Given the description of an element on the screen output the (x, y) to click on. 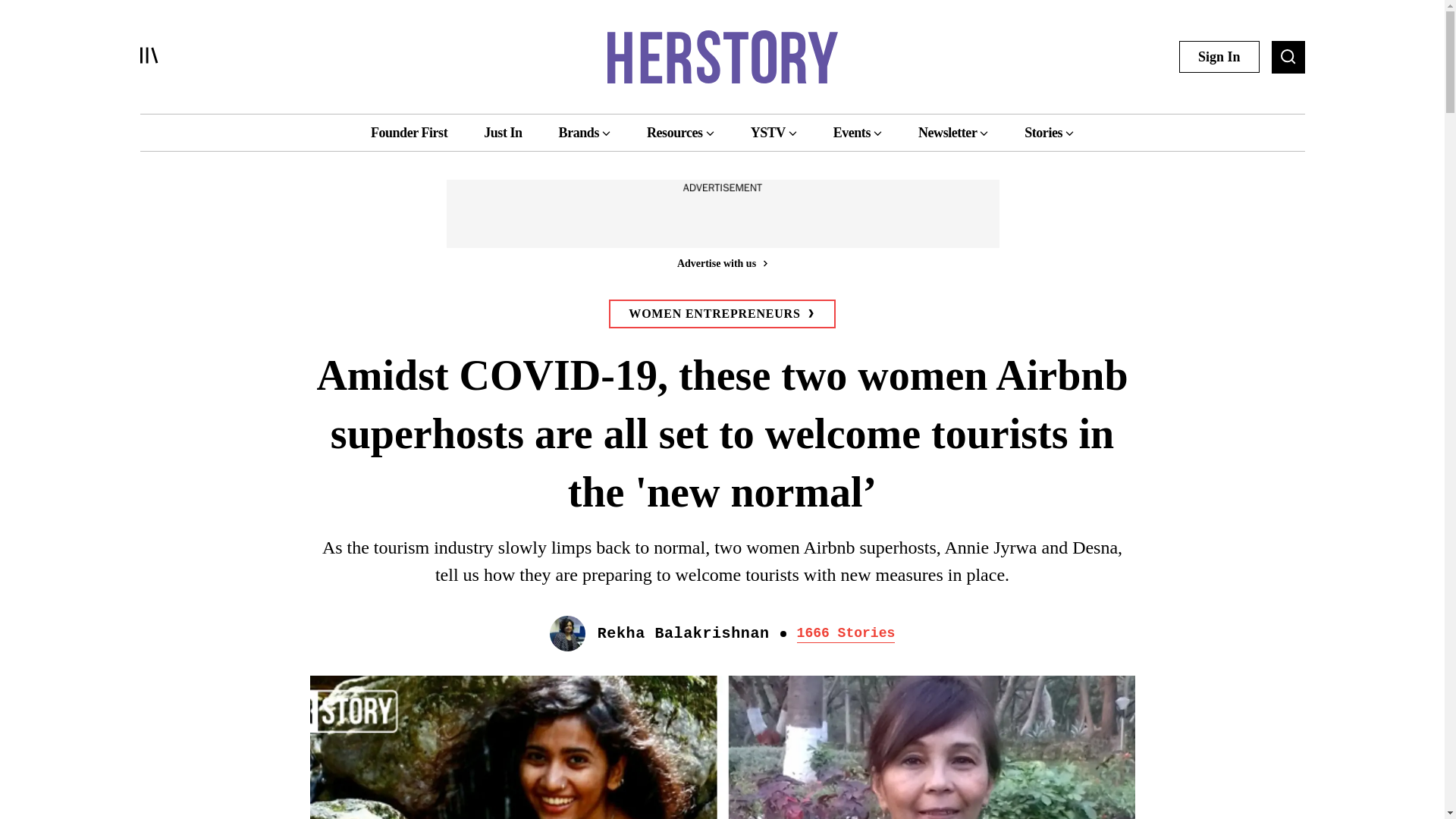
Advertise with us (721, 263)
1666 Stories (845, 633)
WOMEN ENTREPRENEURS (721, 313)
Founder First (408, 132)
Rekha Balakrishnan (683, 633)
Just In (502, 132)
